Given the description of an element on the screen output the (x, y) to click on. 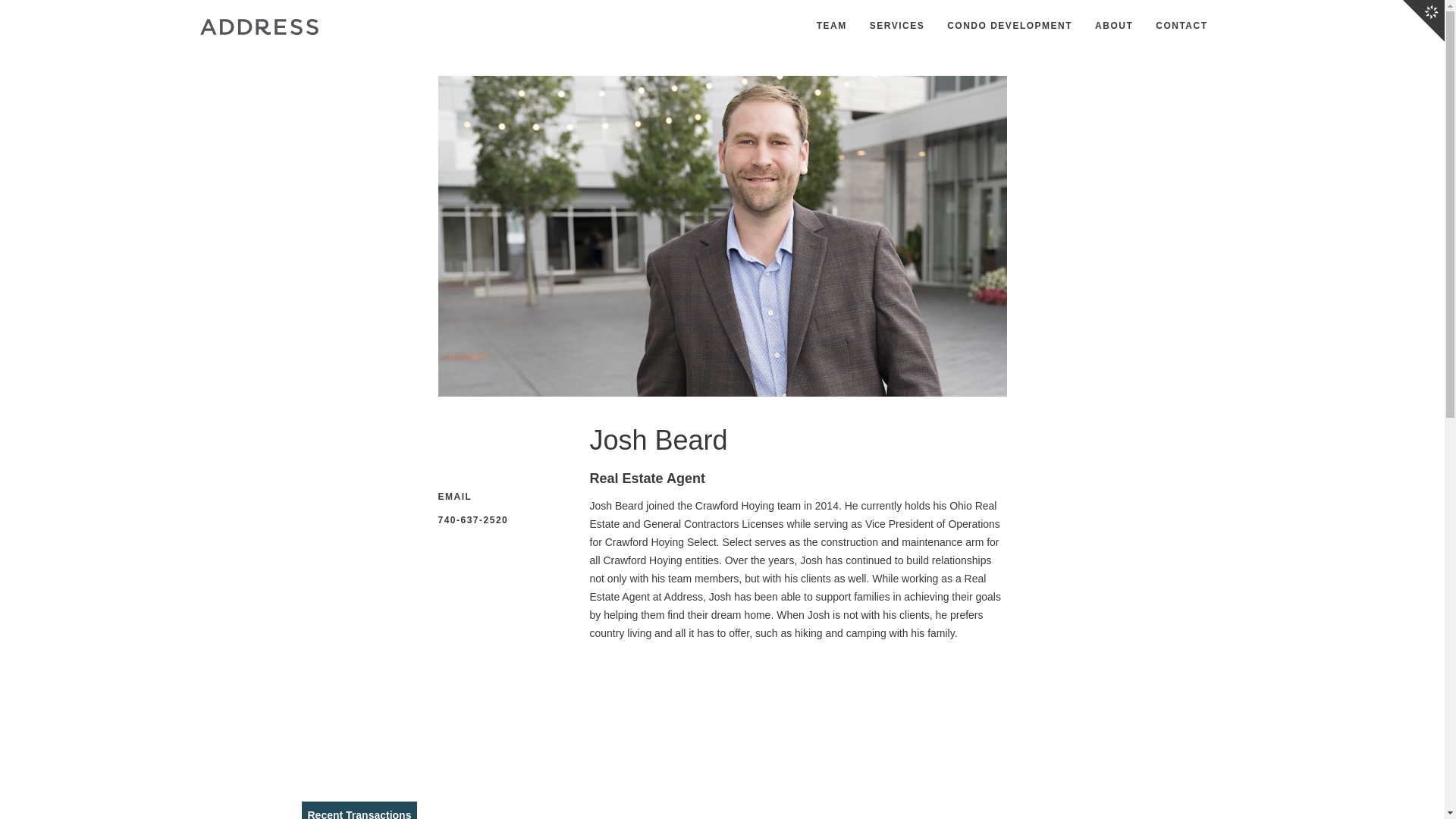
Address (258, 26)
CONDO DEVELOPMENT (1009, 26)
CONTACT (1181, 26)
SERVICES (896, 26)
